Given the description of an element on the screen output the (x, y) to click on. 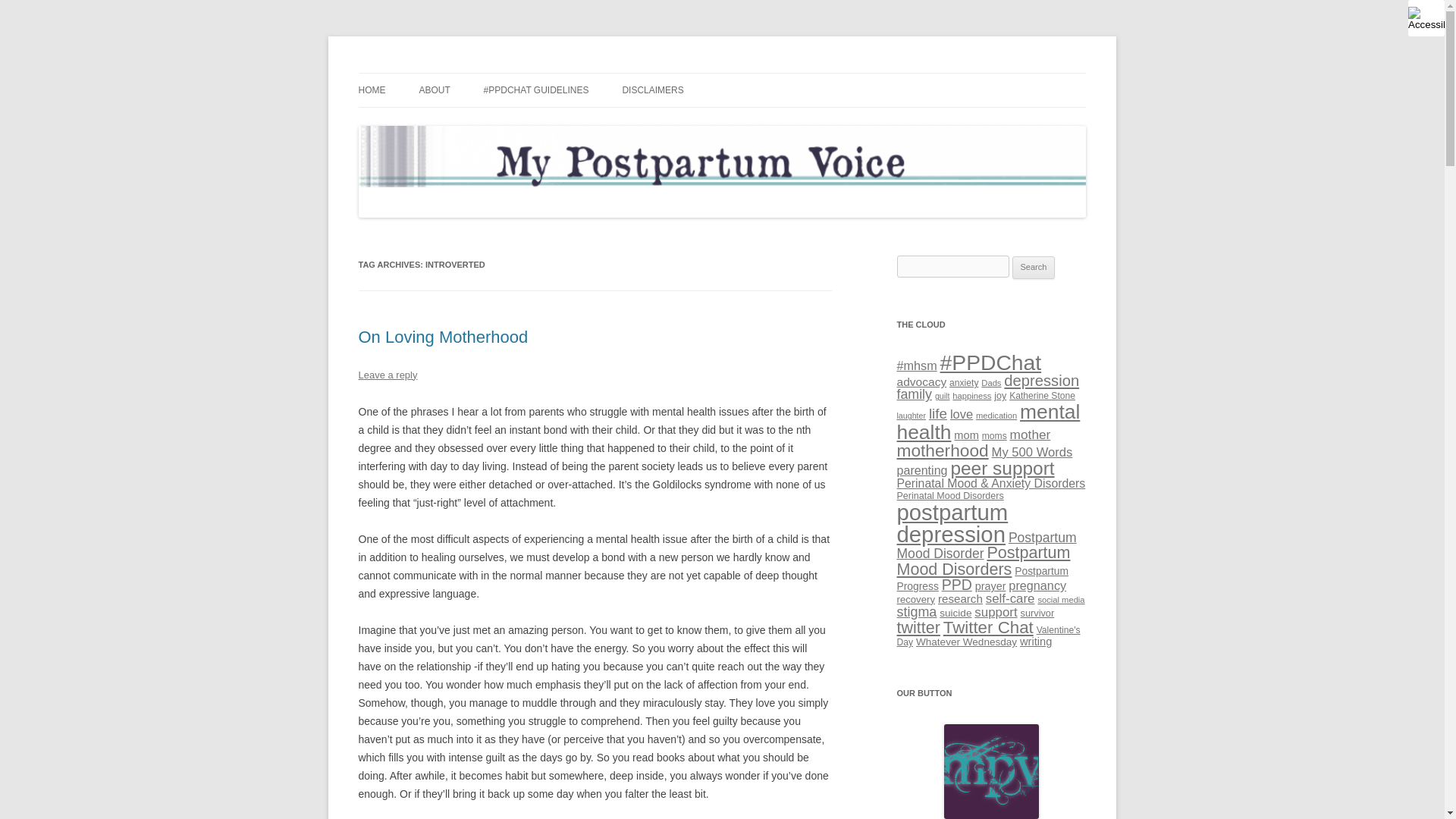
My Postpartum Voice (457, 72)
DISCLAIMERS (651, 90)
11 topics (971, 395)
My Postpartum Voice (457, 72)
37 topics (913, 394)
28 topics (916, 365)
Skip to content (757, 77)
On Loving Motherhood (442, 336)
25 topics (921, 381)
ABOUT (434, 90)
